Given the description of an element on the screen output the (x, y) to click on. 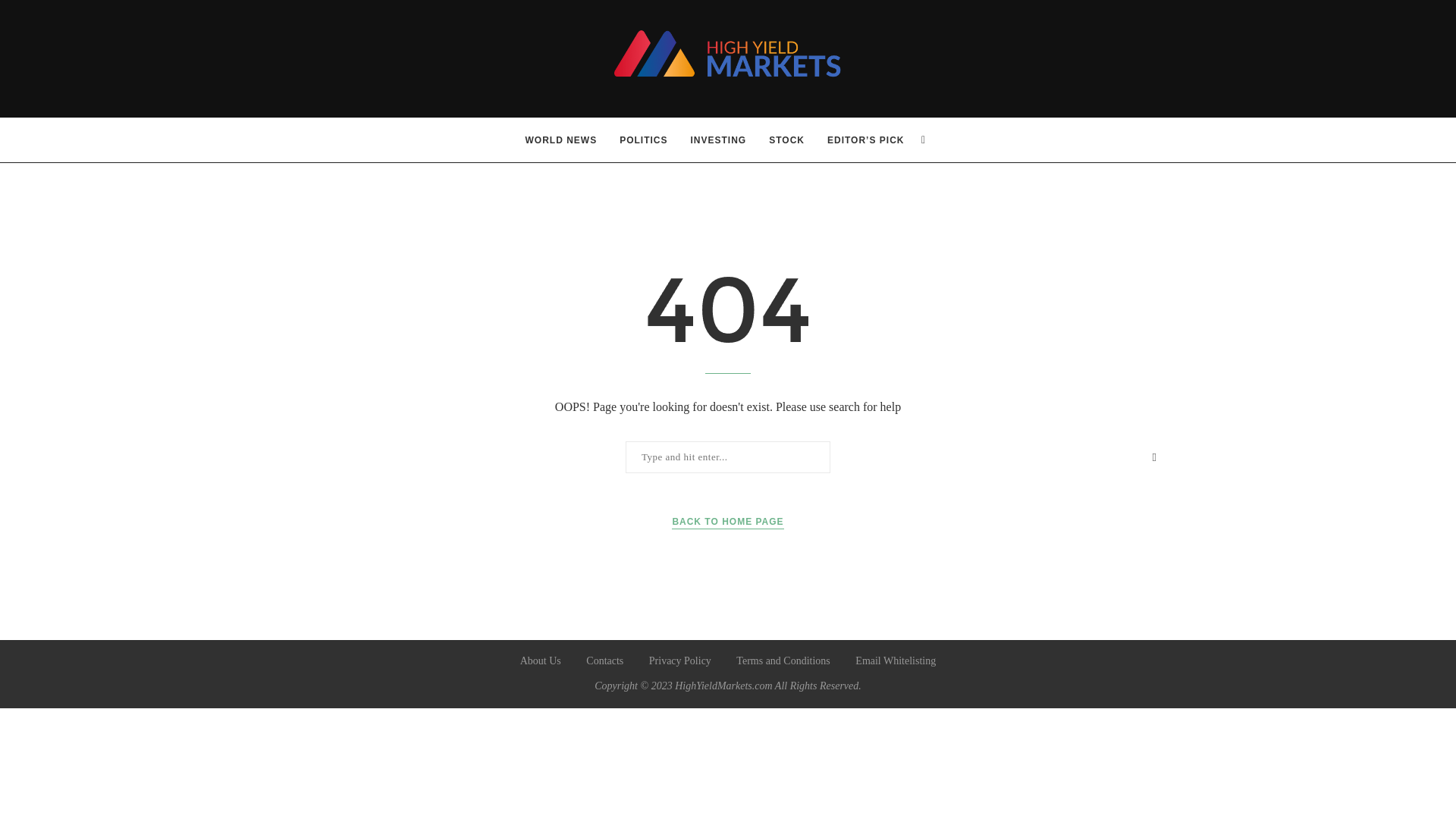
Terms and Conditions (782, 660)
Privacy Policy (680, 660)
WORLD NEWS (560, 139)
POLITICS (643, 139)
About Us (539, 660)
Contacts (604, 660)
INVESTING (718, 139)
BACK TO HOME PAGE (727, 522)
Email Whitelisting (896, 660)
